Given the description of an element on the screen output the (x, y) to click on. 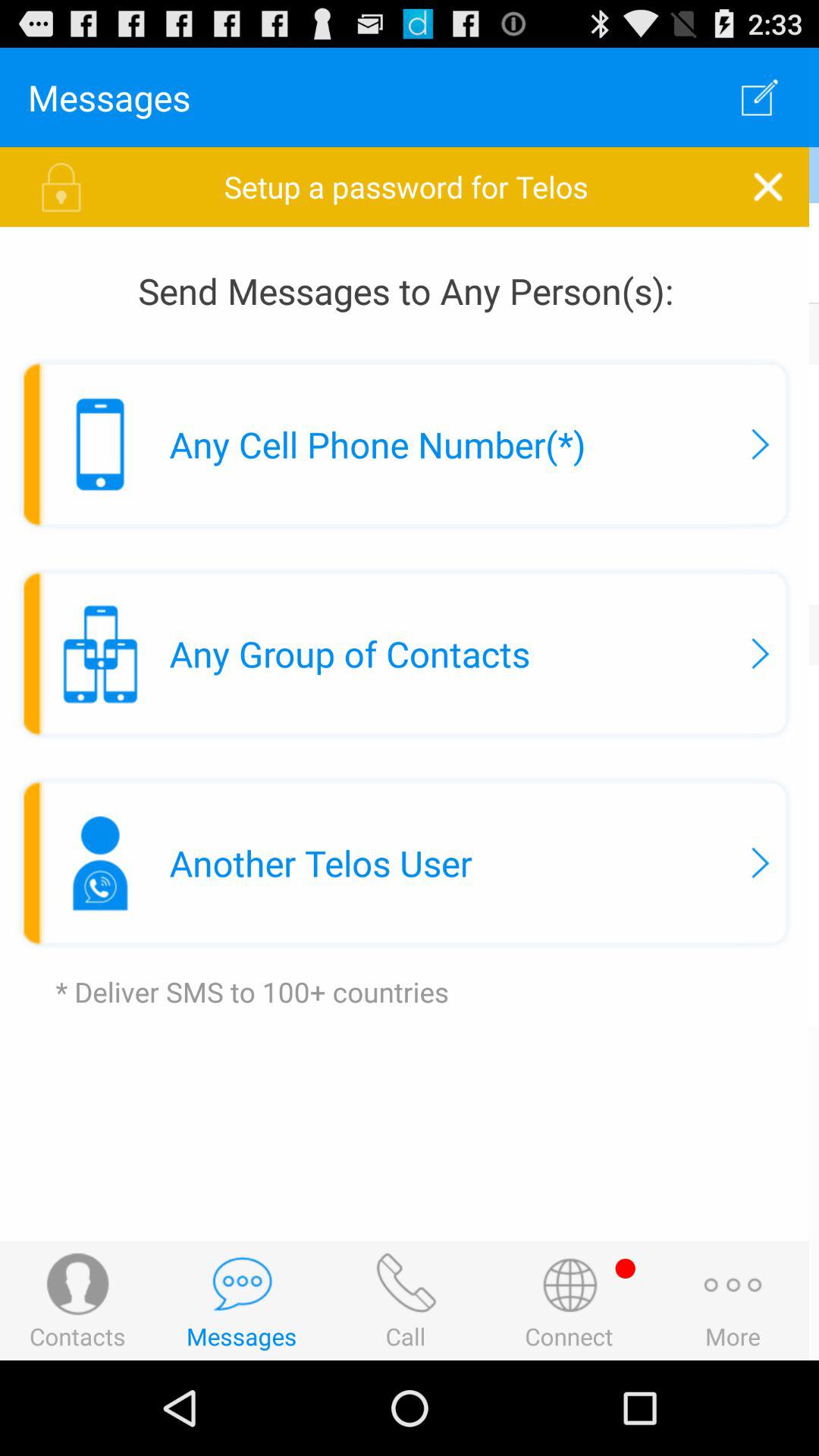
choose the app next to messages icon (763, 97)
